Given the description of an element on the screen output the (x, y) to click on. 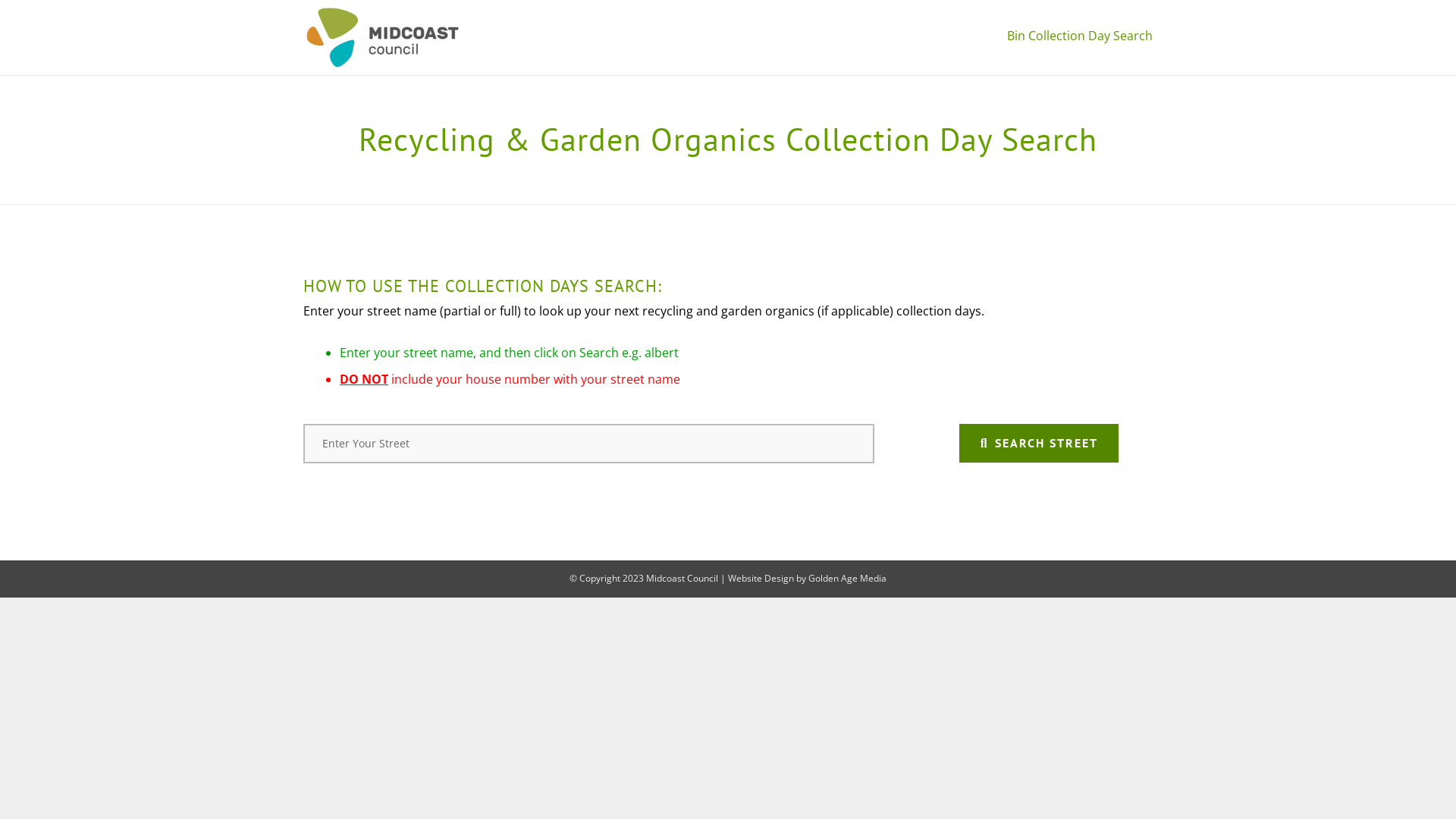
Midcoast Council Element type: text (682, 577)
SEARCH STREET Element type: text (1038, 442)
Bin Collection Day Search Element type: text (1079, 37)
Website Design by Golden Age Media Element type: text (807, 577)
